Given the description of an element on the screen output the (x, y) to click on. 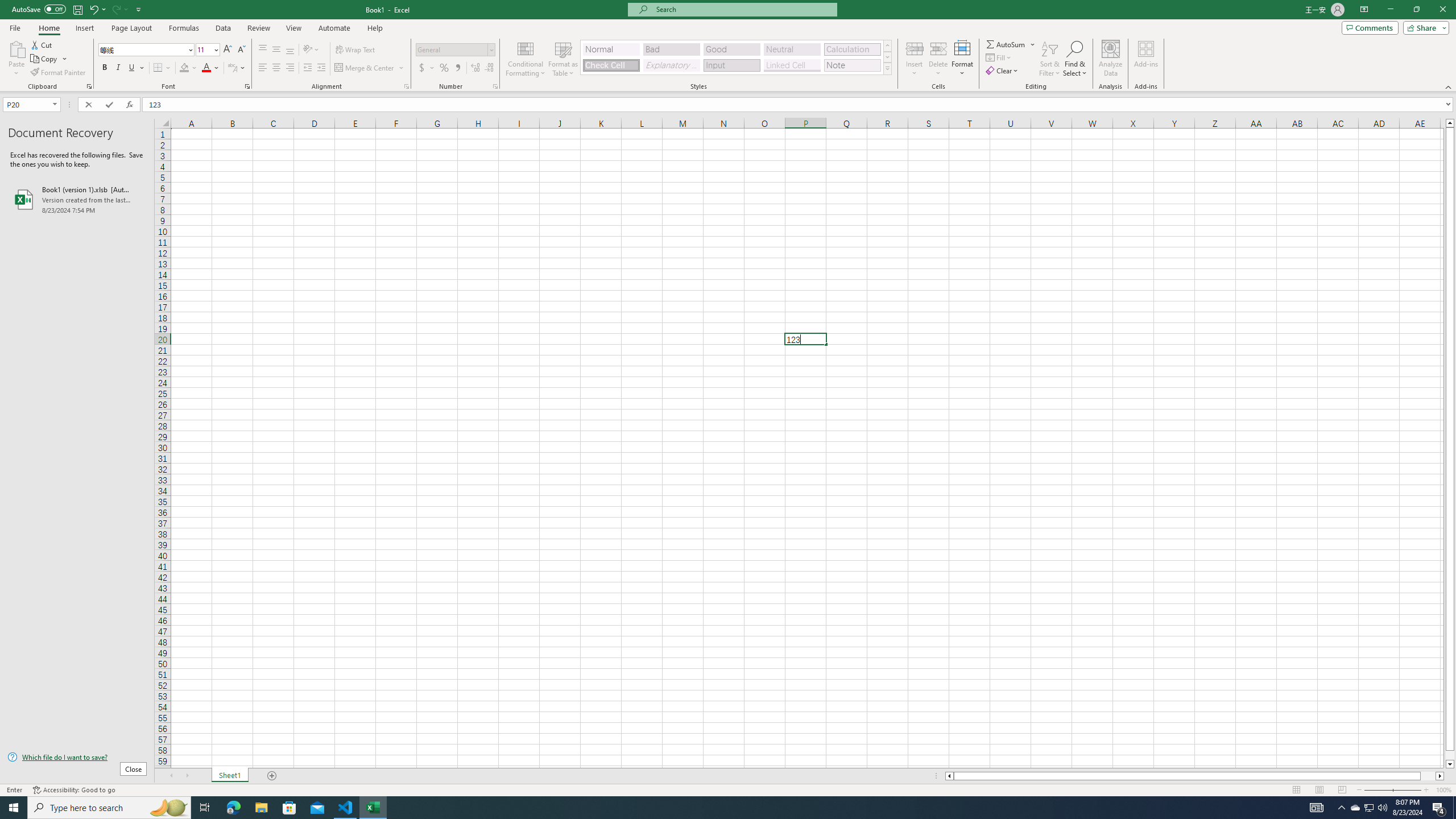
Format Cell Font (247, 85)
Decrease Indent (307, 67)
Show Phonetic Field (231, 67)
Cell Styles (887, 68)
Orientation (311, 49)
Delete Cells... (938, 48)
Office Clipboard... (88, 85)
Linked Cell (791, 65)
